Given the description of an element on the screen output the (x, y) to click on. 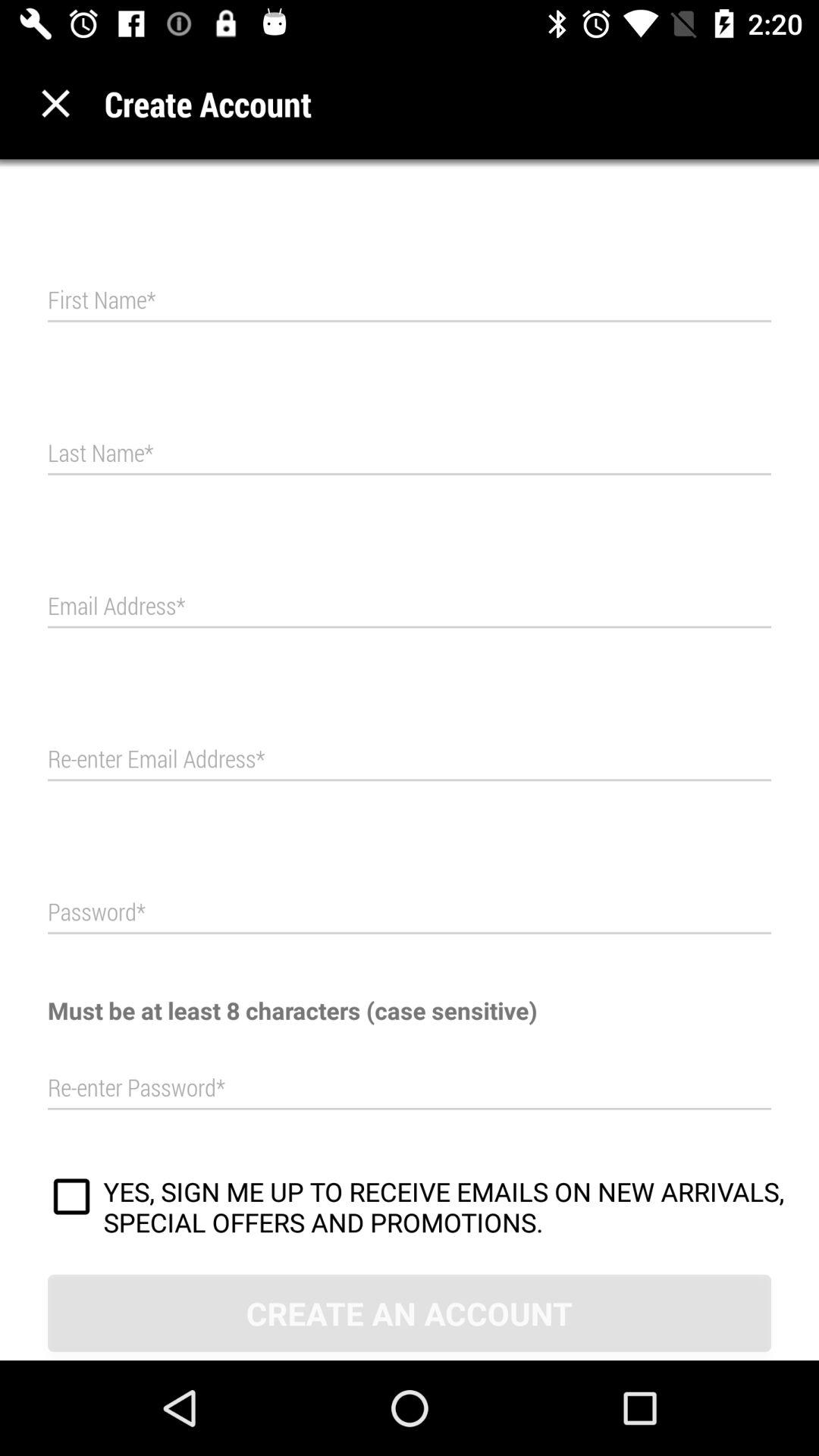
enter text (409, 453)
